Given the description of an element on the screen output the (x, y) to click on. 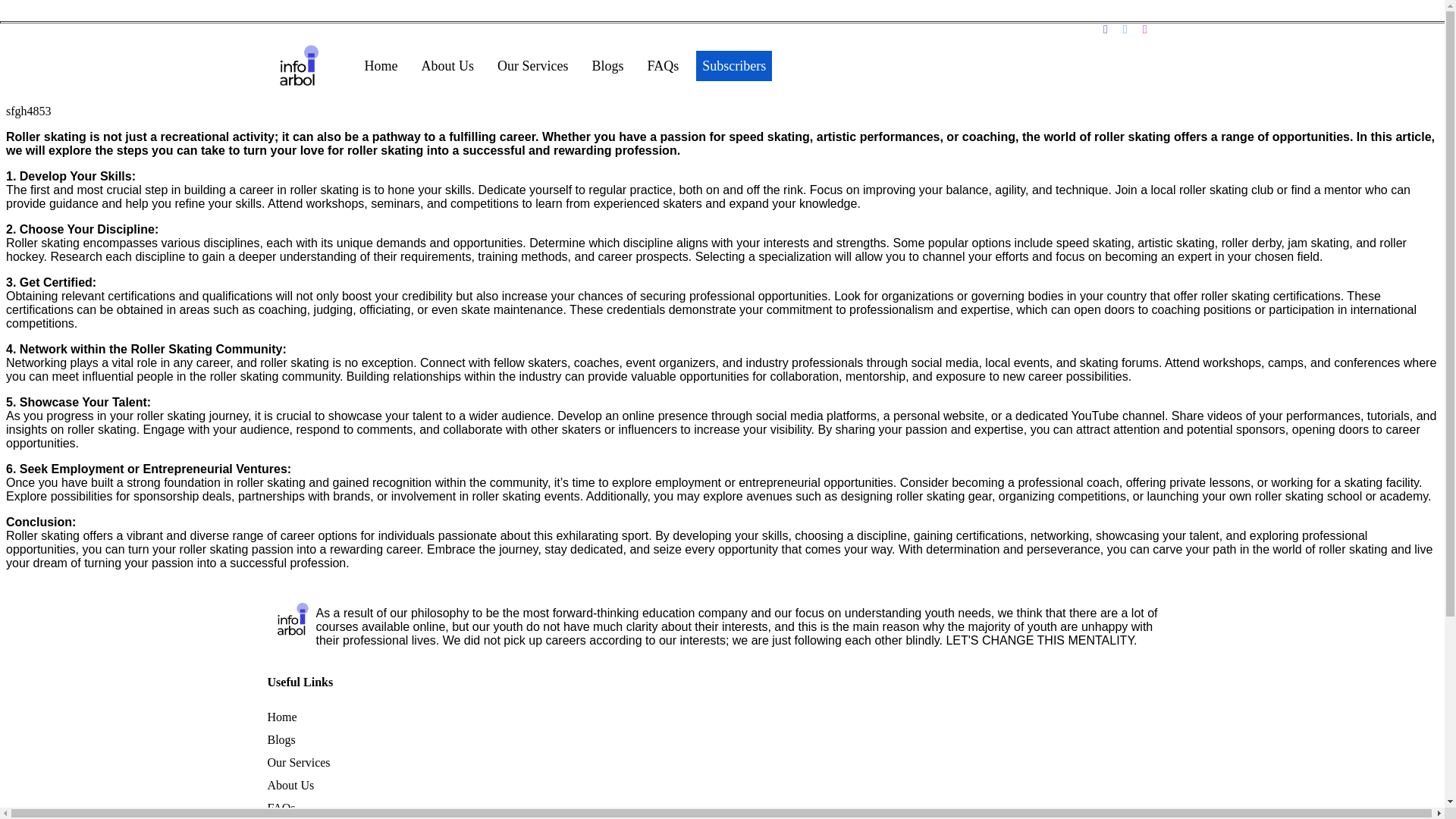
FAQs (663, 65)
About Us (290, 784)
Home (281, 716)
Our Services (298, 762)
About Us (447, 65)
Home (380, 65)
FAQs (280, 807)
Our Services (532, 65)
Subscribers (733, 65)
Blogs (606, 65)
Blogs (280, 739)
